Given the description of an element on the screen output the (x, y) to click on. 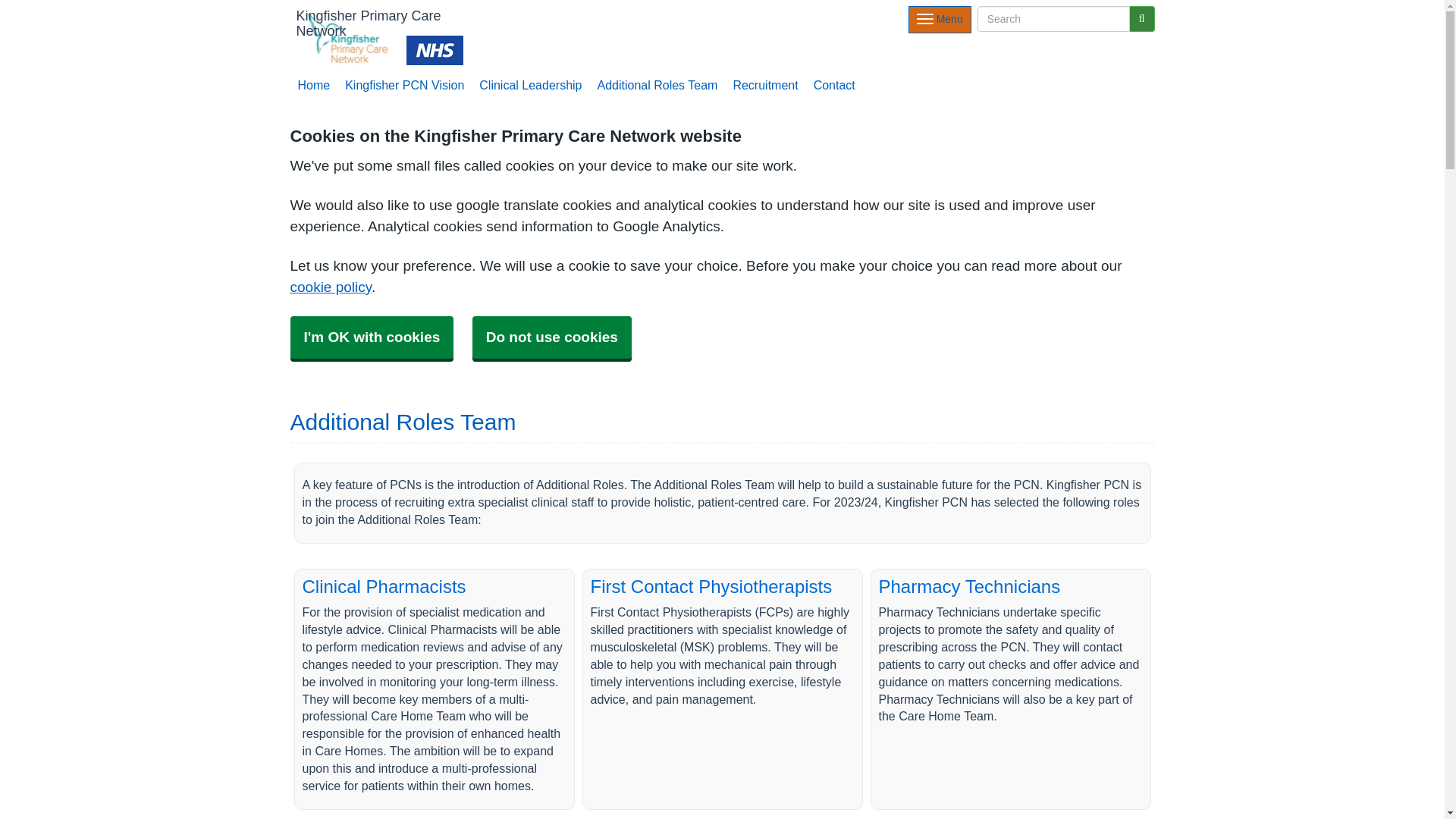
Menu (939, 19)
Home (313, 85)
Kingfisher Primary Care Network (376, 35)
Clinical Leadership (530, 85)
Recruitment (765, 85)
Contact (834, 85)
Additional Roles Team (657, 85)
I'm OK with cookies (370, 337)
Kingfisher PCN Vision (404, 85)
Do not use cookies (551, 337)
cookie policy (330, 286)
